Given the description of an element on the screen output the (x, y) to click on. 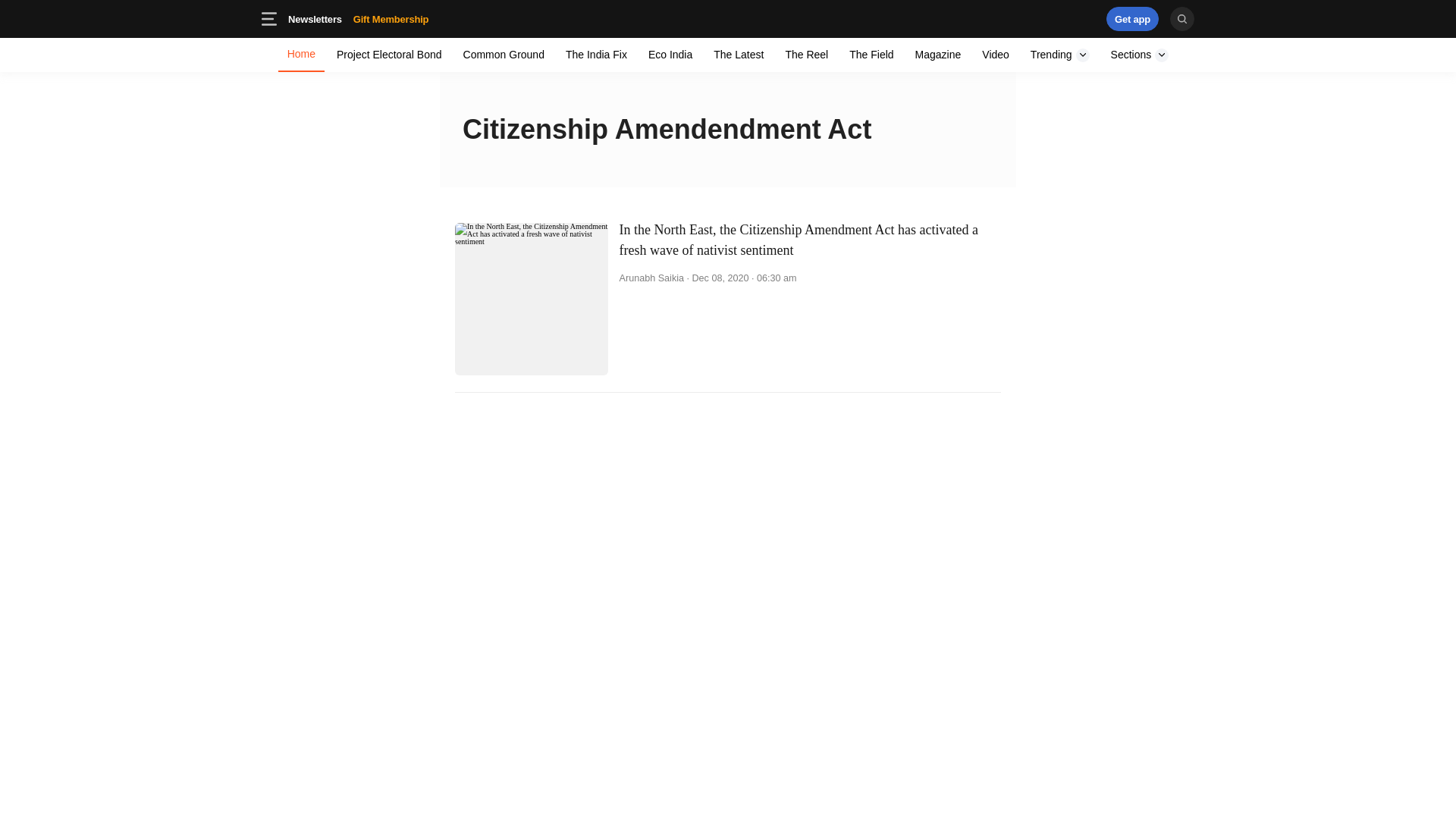
Video (994, 54)
Trending (414, 18)
Magazine (1060, 54)
The Reel (938, 54)
Home (806, 54)
The Field (301, 54)
Gift Membership (871, 54)
Newsletters (391, 18)
Get app (358, 18)
Get app (315, 18)
Project Electoral Bond (1132, 18)
Eco India (1132, 18)
The India Fix (389, 54)
